Given the description of an element on the screen output the (x, y) to click on. 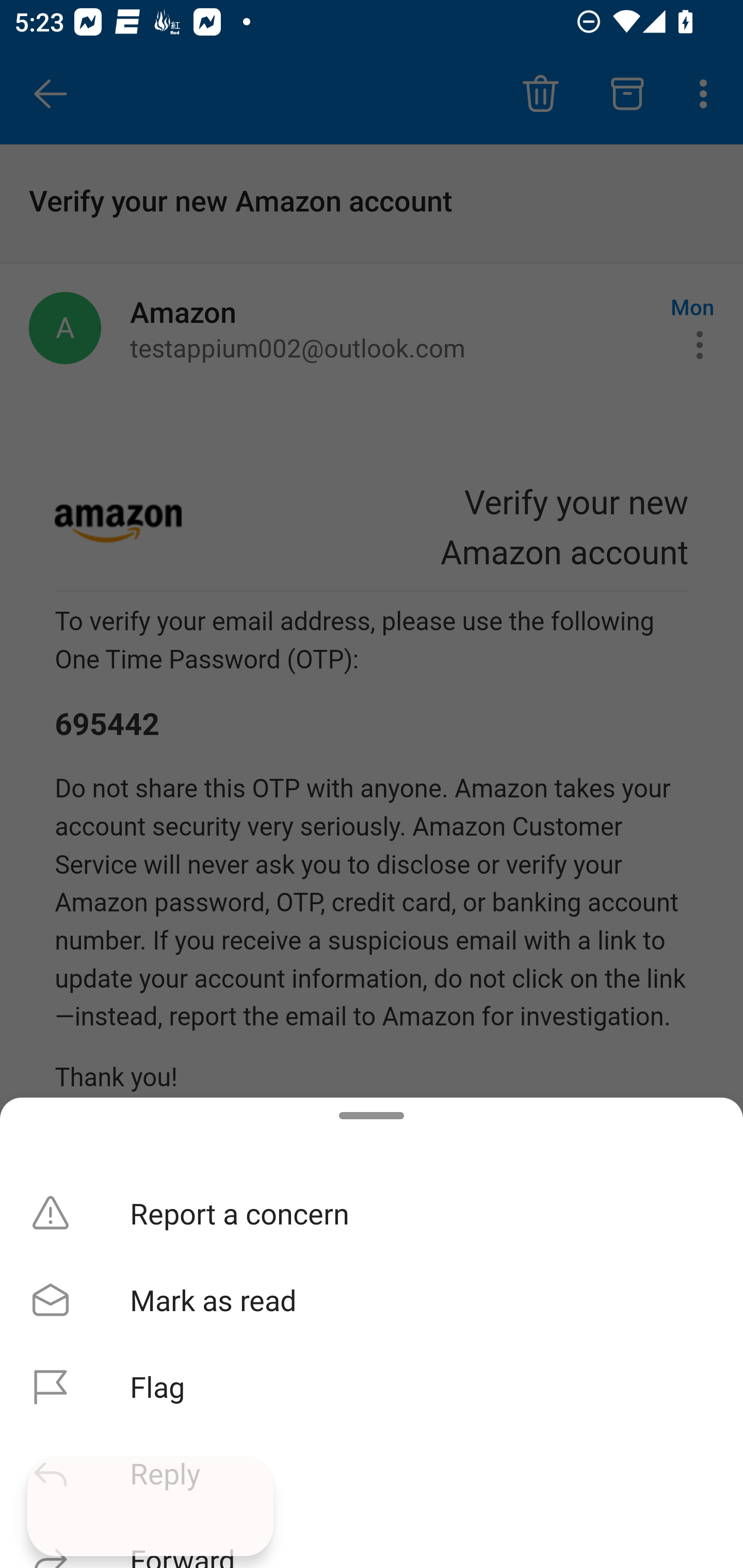
Report a concern (371, 1212)
Mark as read (371, 1299)
Flag (371, 1386)
